Given the description of an element on the screen output the (x, y) to click on. 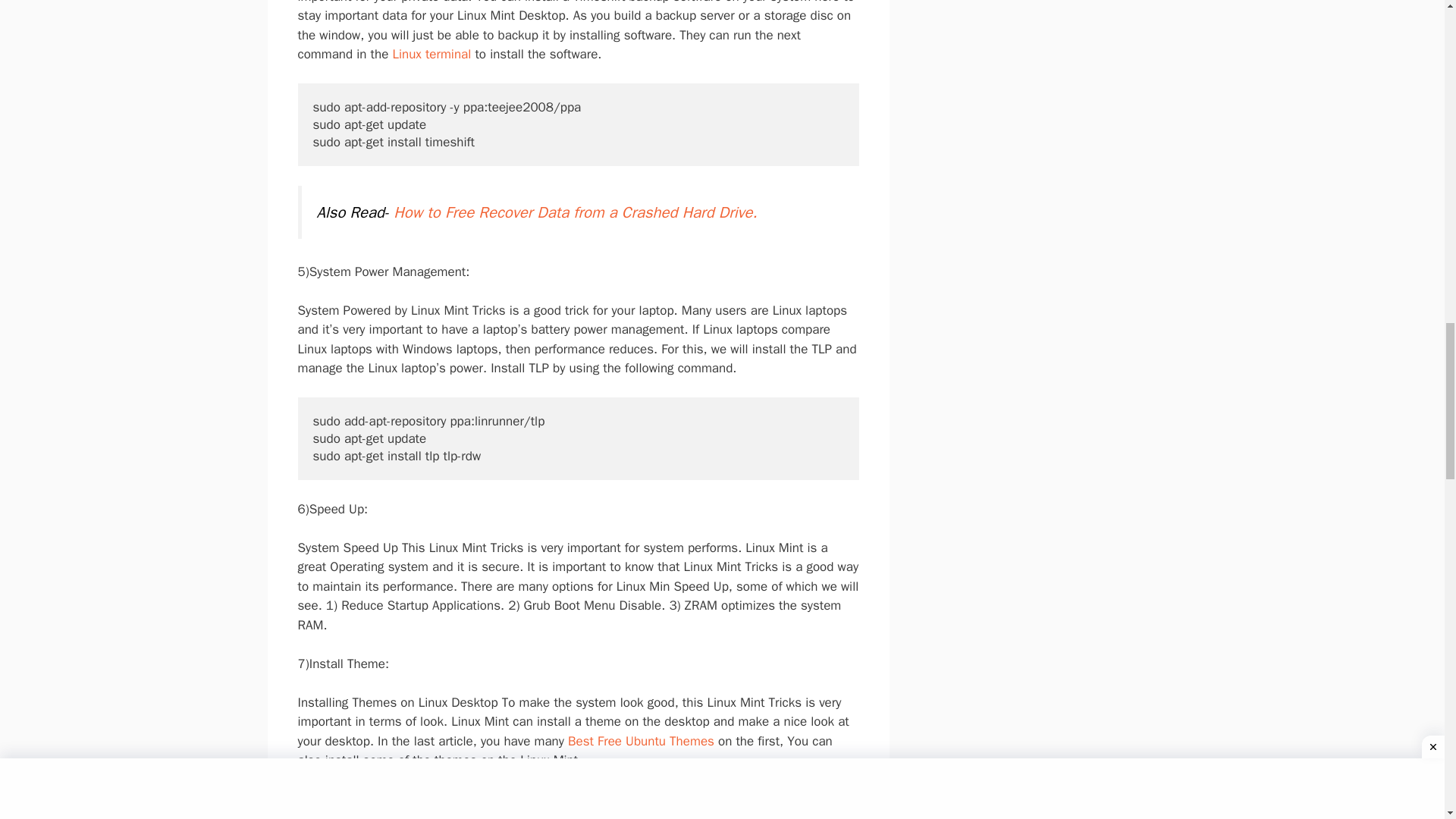
How to Free Recover Data from a Crashed Hard Drive. (575, 211)
Linux terminal (430, 53)
Best Free Ubuntu Themes (640, 741)
Top 10 Best Free Ubuntu and Mint Themes User Needs To Know (611, 812)
